Given the description of an element on the screen output the (x, y) to click on. 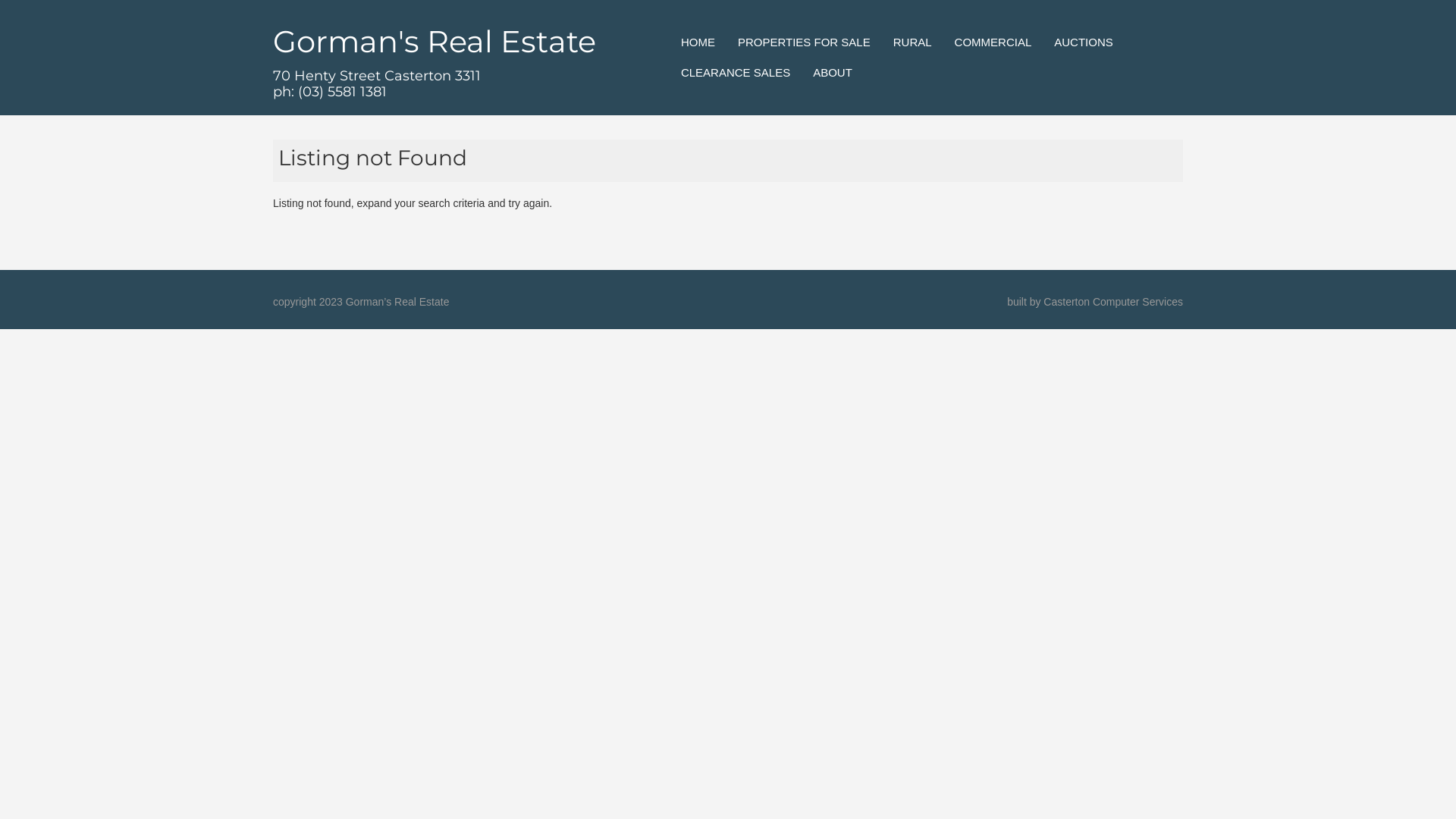
CLEARANCE SALES Element type: text (735, 72)
ABOUT Element type: text (832, 72)
COMMERCIAL Element type: text (993, 42)
Skip to content Element type: text (698, 35)
RURAL Element type: text (912, 42)
AUCTIONS Element type: text (1083, 42)
Gorman's Real Estate Element type: text (434, 40)
PROPERTIES FOR SALE Element type: text (803, 42)
HOME Element type: text (697, 42)
